Given the description of an element on the screen output the (x, y) to click on. 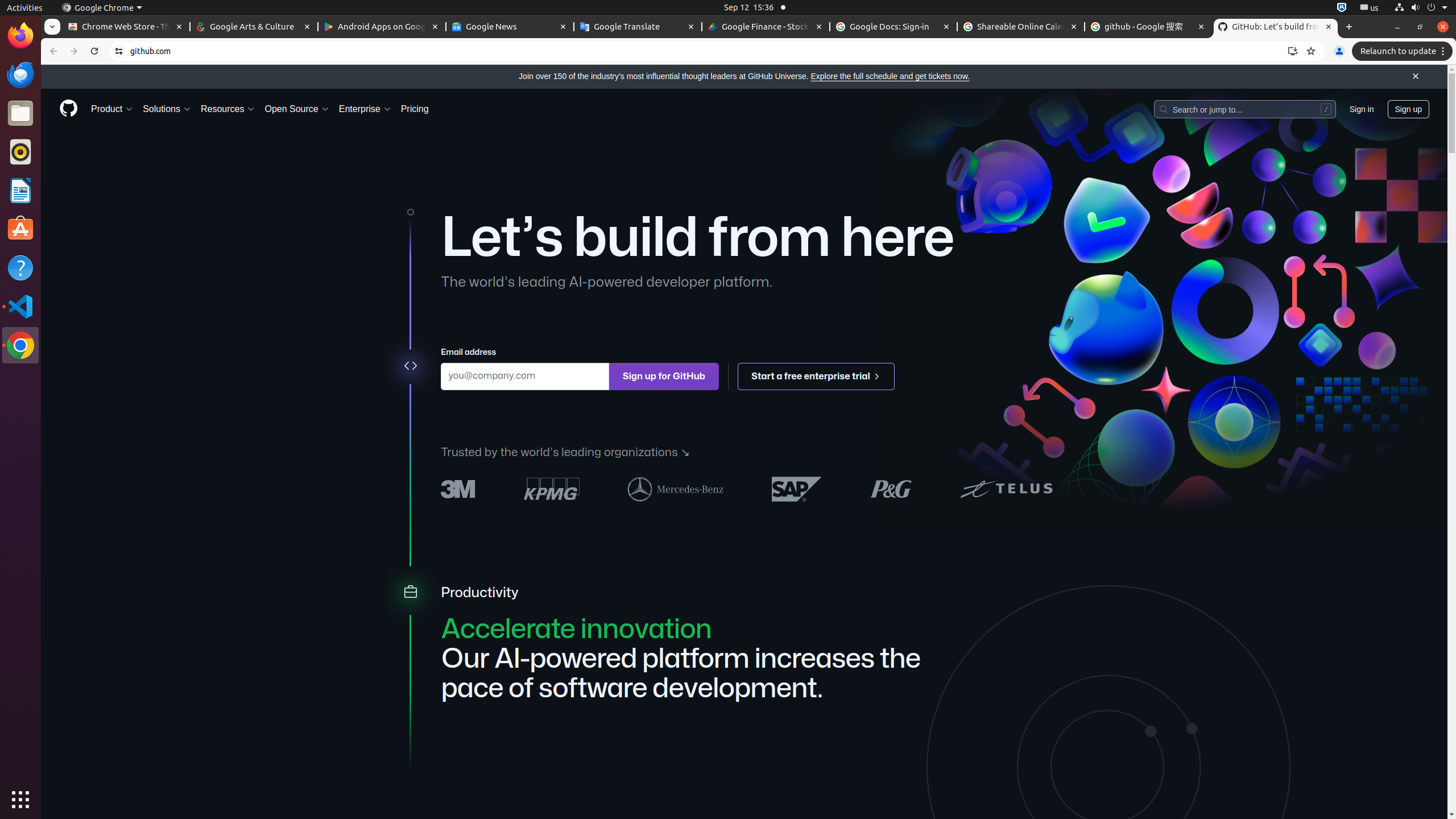
Google Chrome Element type: menu (101, 7)
Homepage Element type: link (68, 108)
Sign up Element type: link (1408, 108)
Sign in Element type: link (1361, 108)
:1.21/StatusNotifierItem Element type: menu (1369, 7)
